Given the description of an element on the screen output the (x, y) to click on. 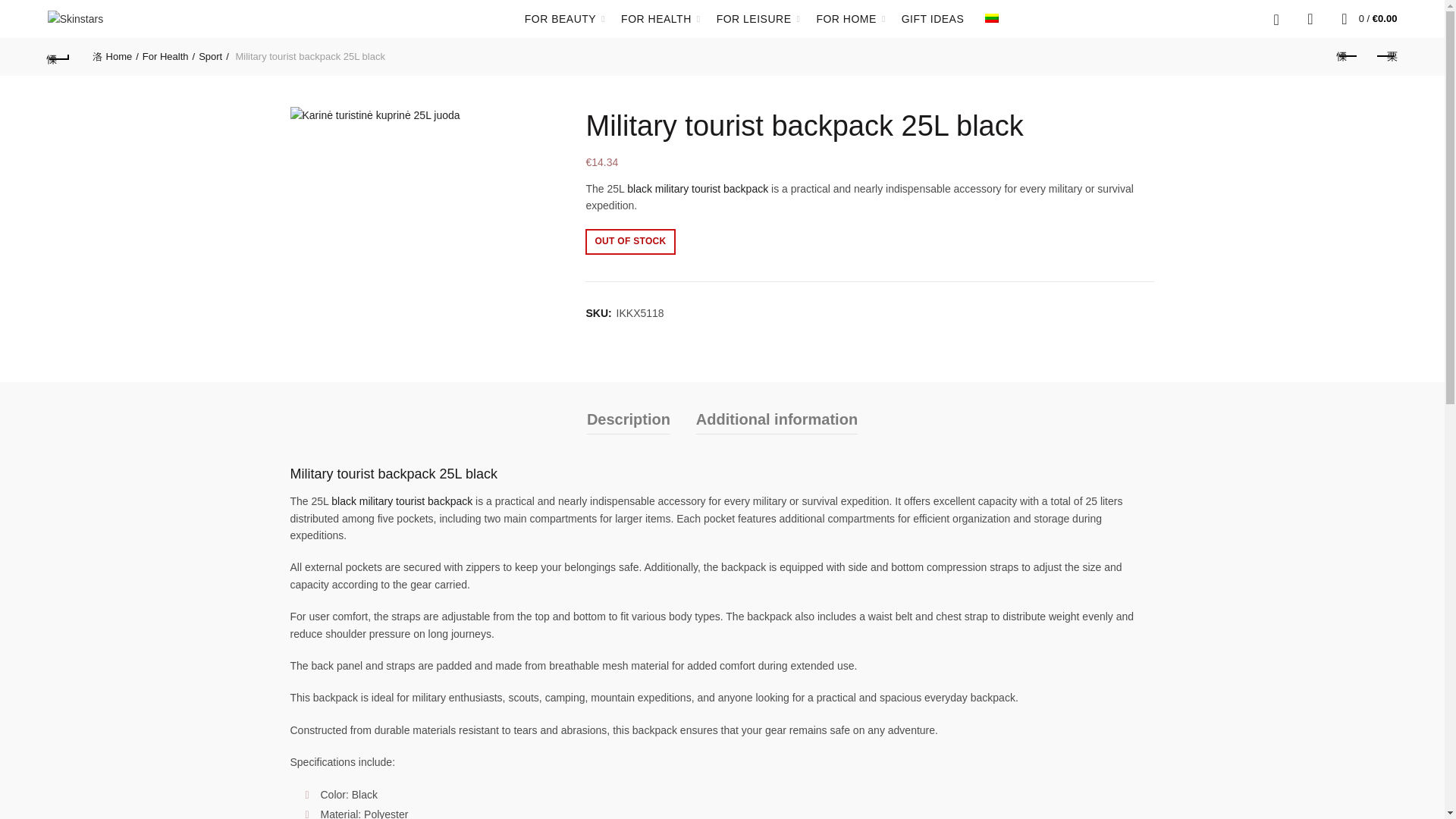
Plecak-taktyczny-wojskowy-turystyczny-25L-czarny-107123 (374, 115)
